Given the description of an element on the screen output the (x, y) to click on. 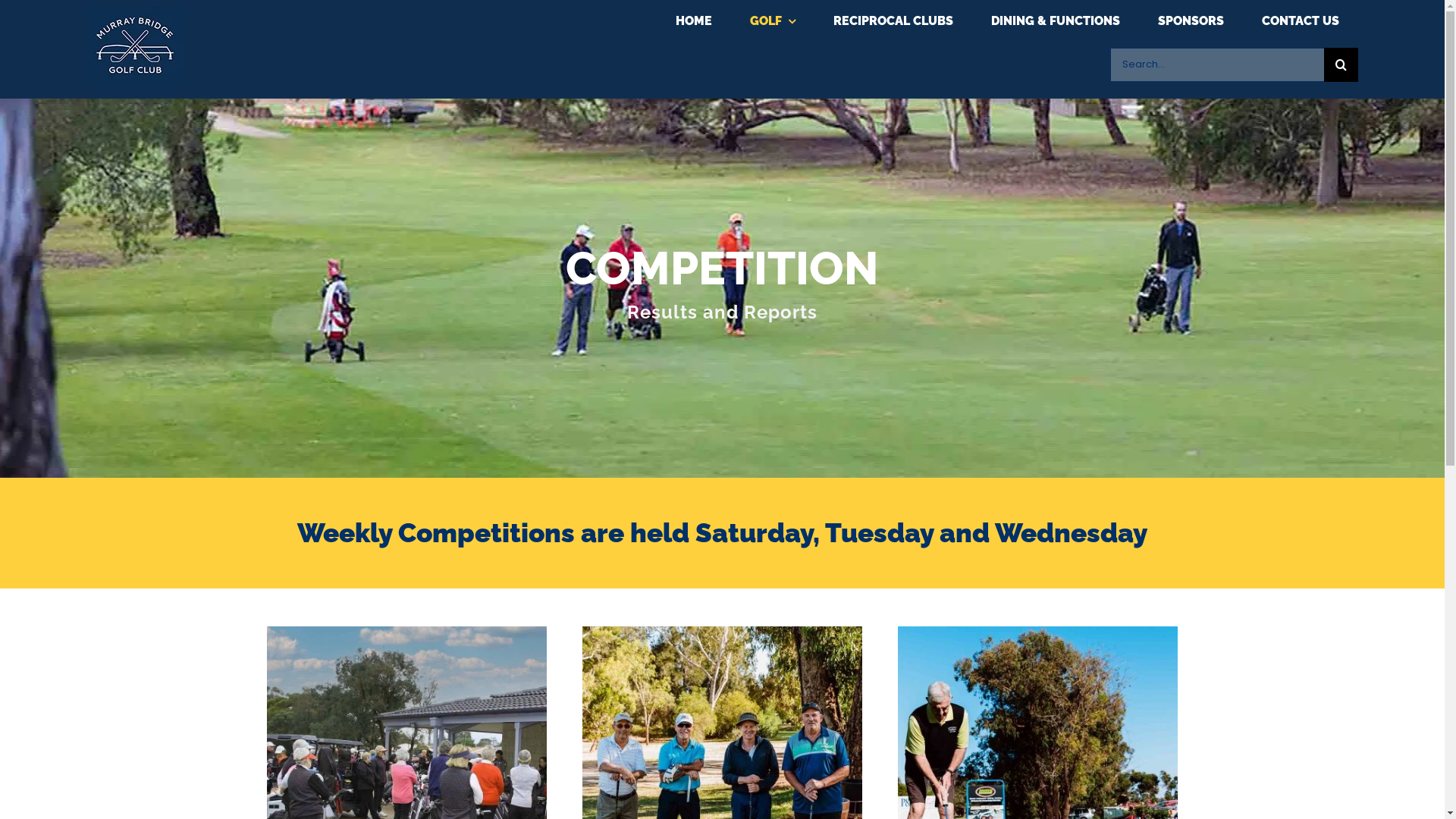
RECIPROCAL CLUBS Element type: text (893, 20)
GOLF Element type: text (772, 20)
HOME Element type: text (693, 20)
CONTACT US Element type: text (1300, 20)
SPONSORS Element type: text (1190, 20)
DINING & FUNCTIONS Element type: text (1055, 20)
